Given the description of an element on the screen output the (x, y) to click on. 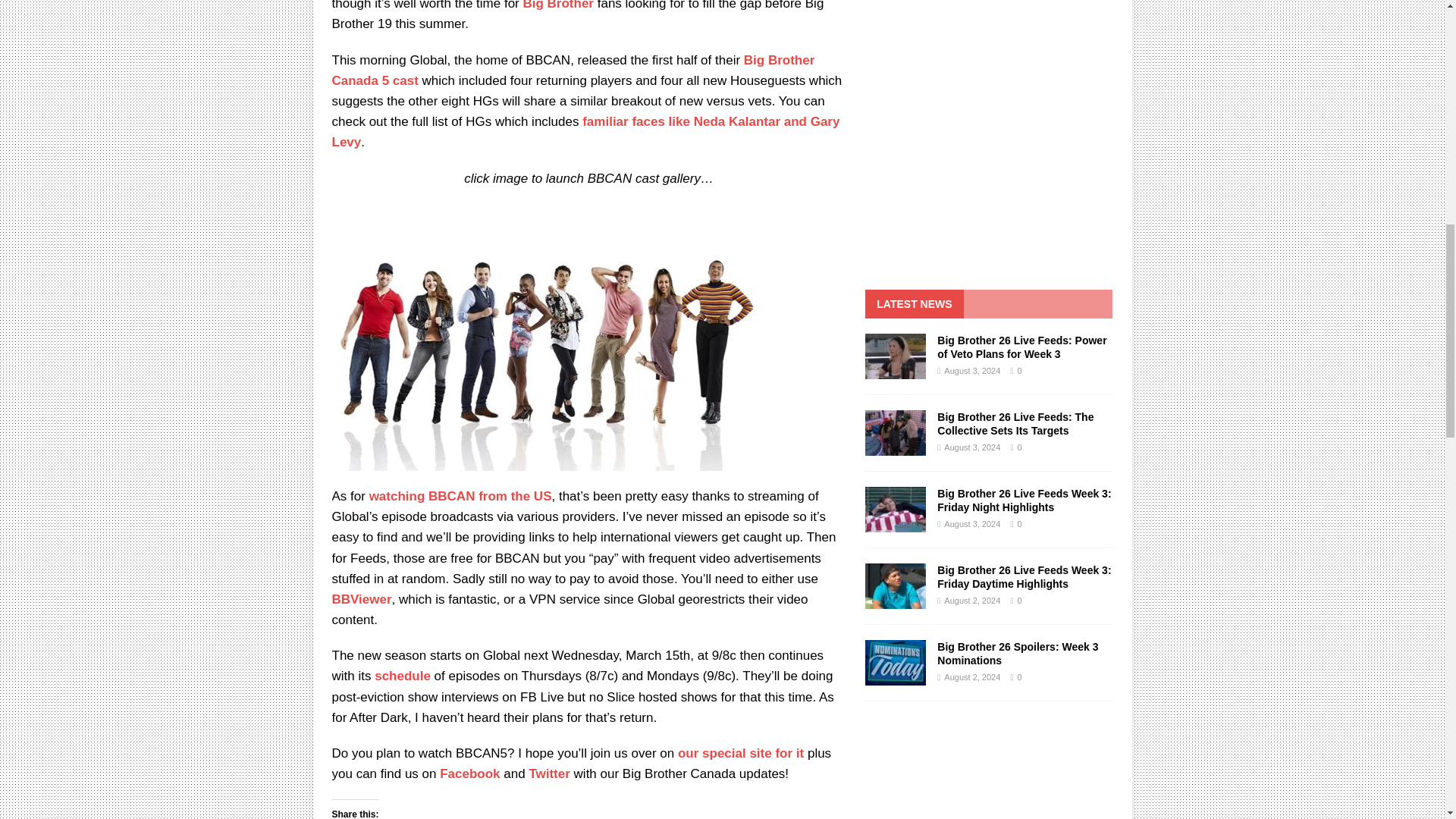
Big Brother 26 Live Feeds: Power of Veto Plans for Week 3 (895, 356)
